Given the description of an element on the screen output the (x, y) to click on. 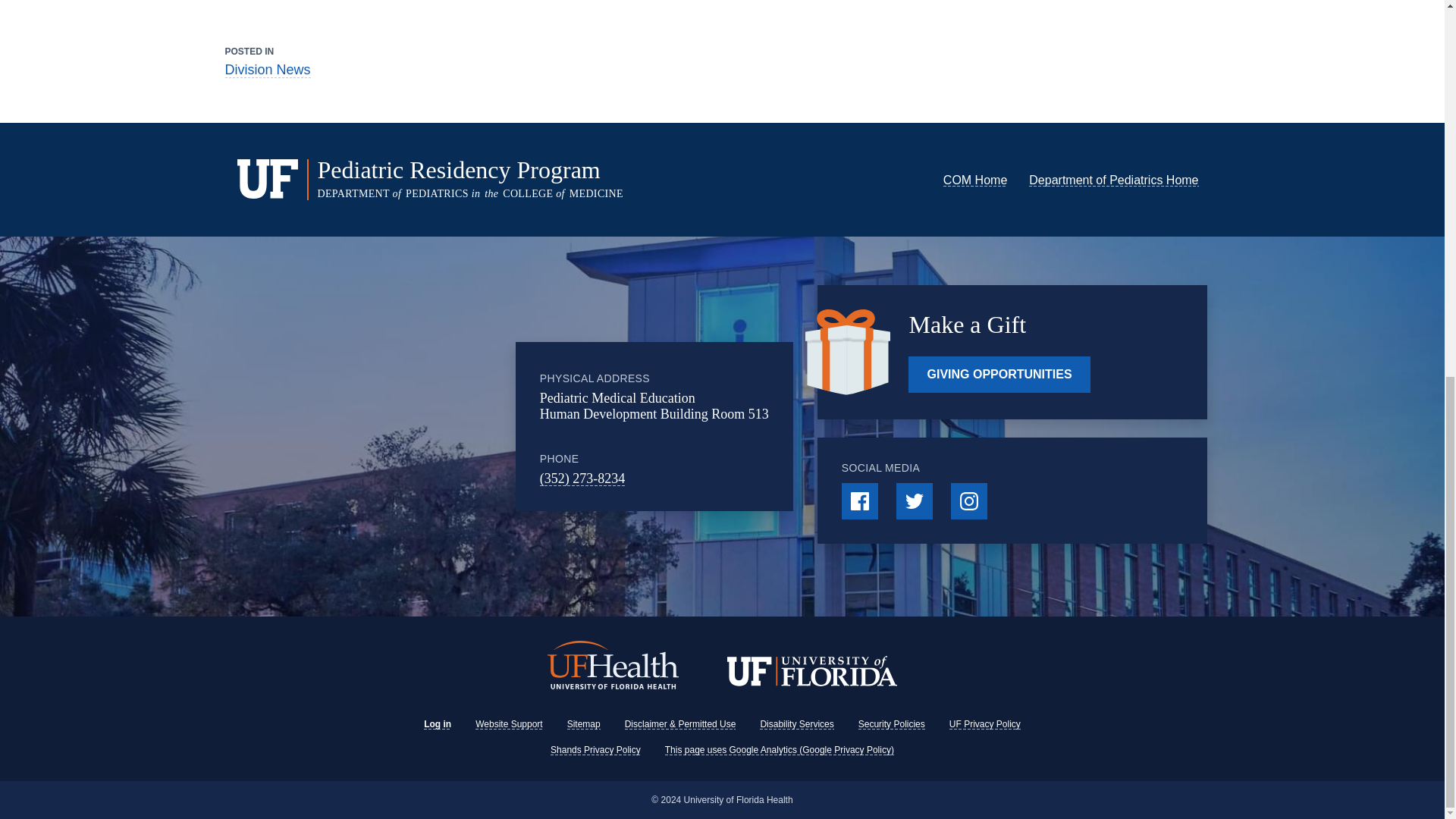
Shands Privacy Policy (595, 749)
Disability Services (796, 724)
Website Support (509, 724)
Department of Pediatrics Home (1113, 179)
COM Home (975, 179)
Log in (437, 724)
Sitemap (583, 724)
Google Maps Embed (423, 425)
Security Policies (891, 724)
UF Privacy Policy (984, 724)
